Given the description of an element on the screen output the (x, y) to click on. 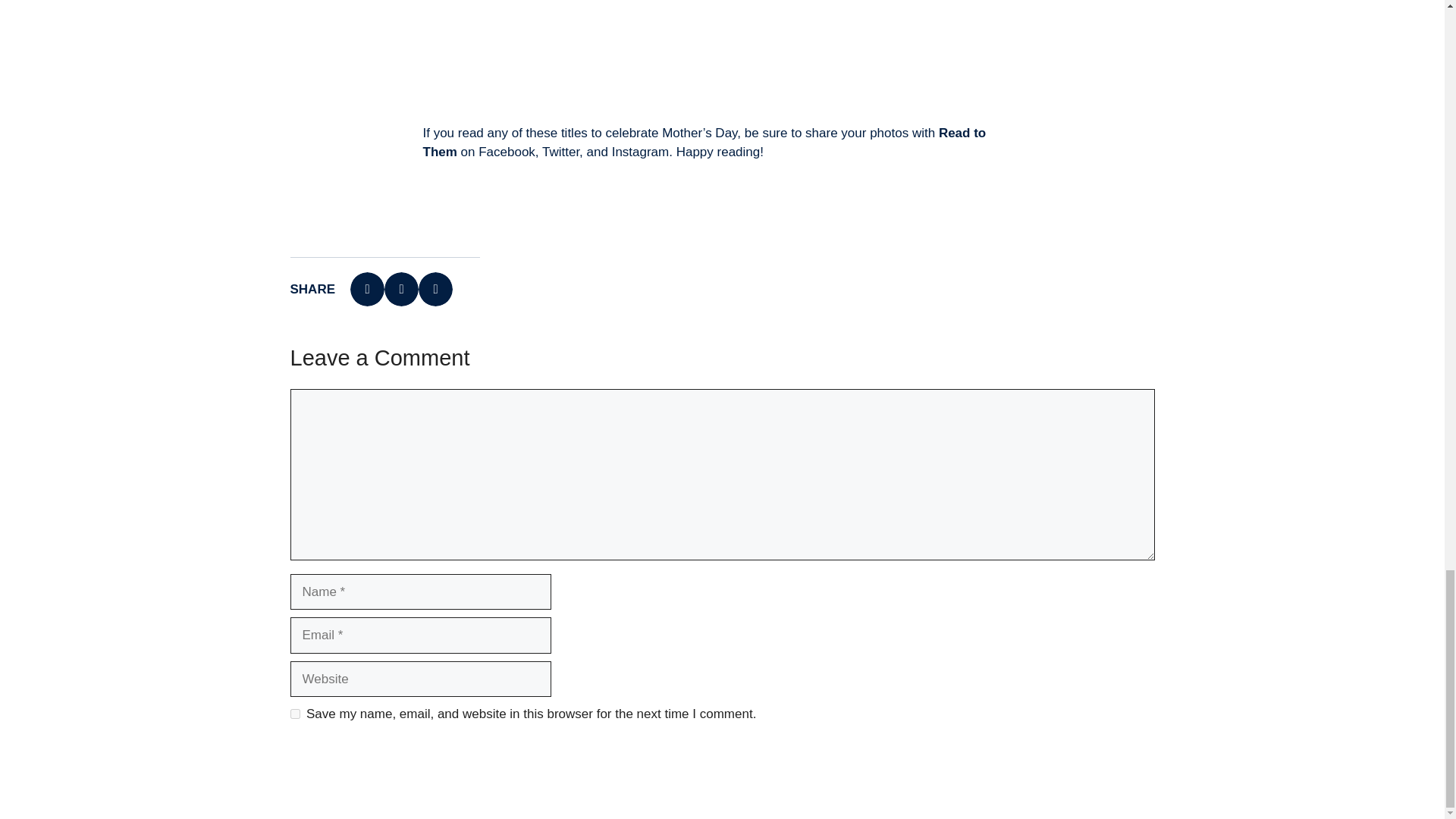
yes (294, 714)
